Given the description of an element on the screen output the (x, y) to click on. 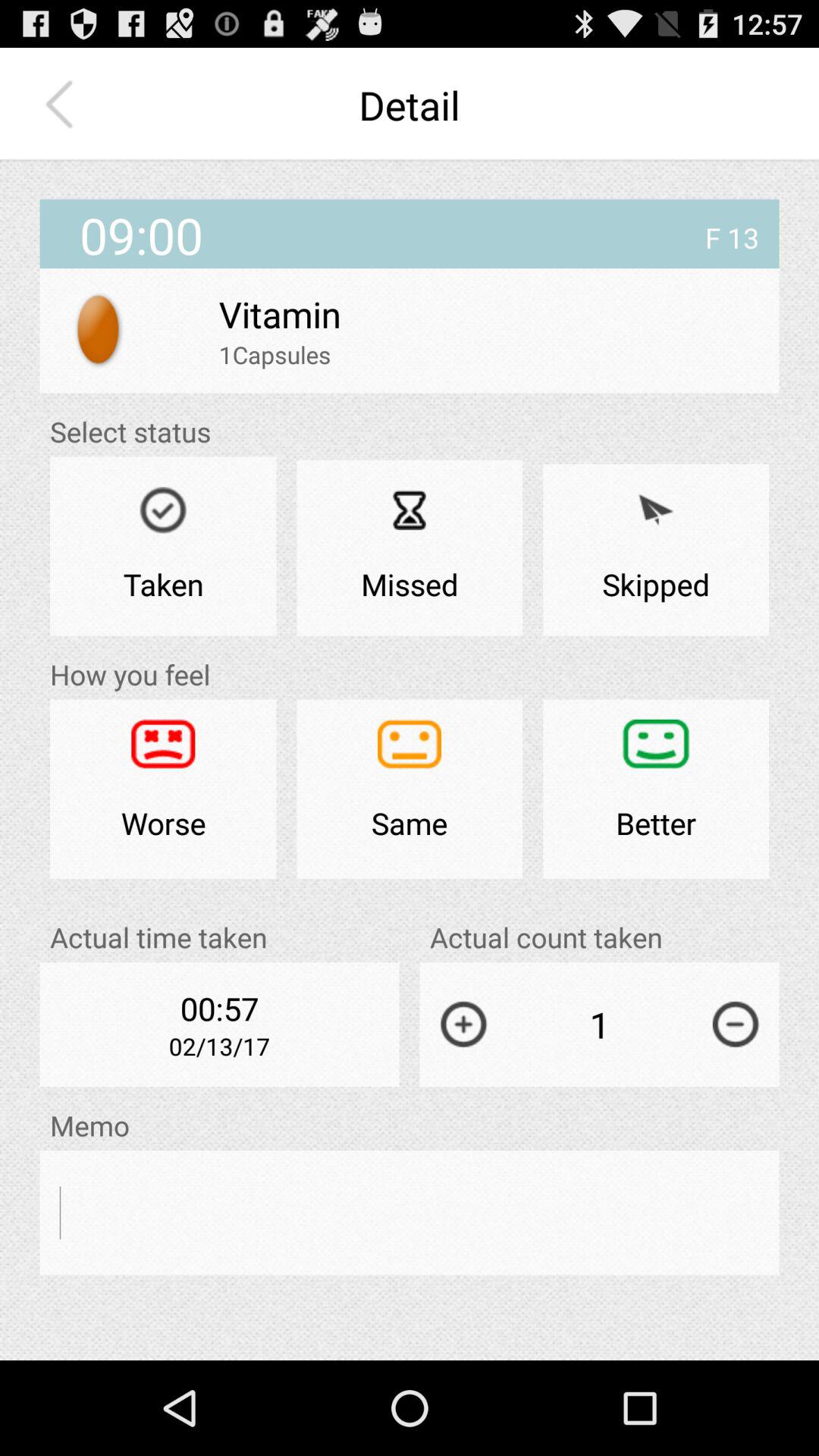
tap the app below the skipped (655, 788)
